Given the description of an element on the screen output the (x, y) to click on. 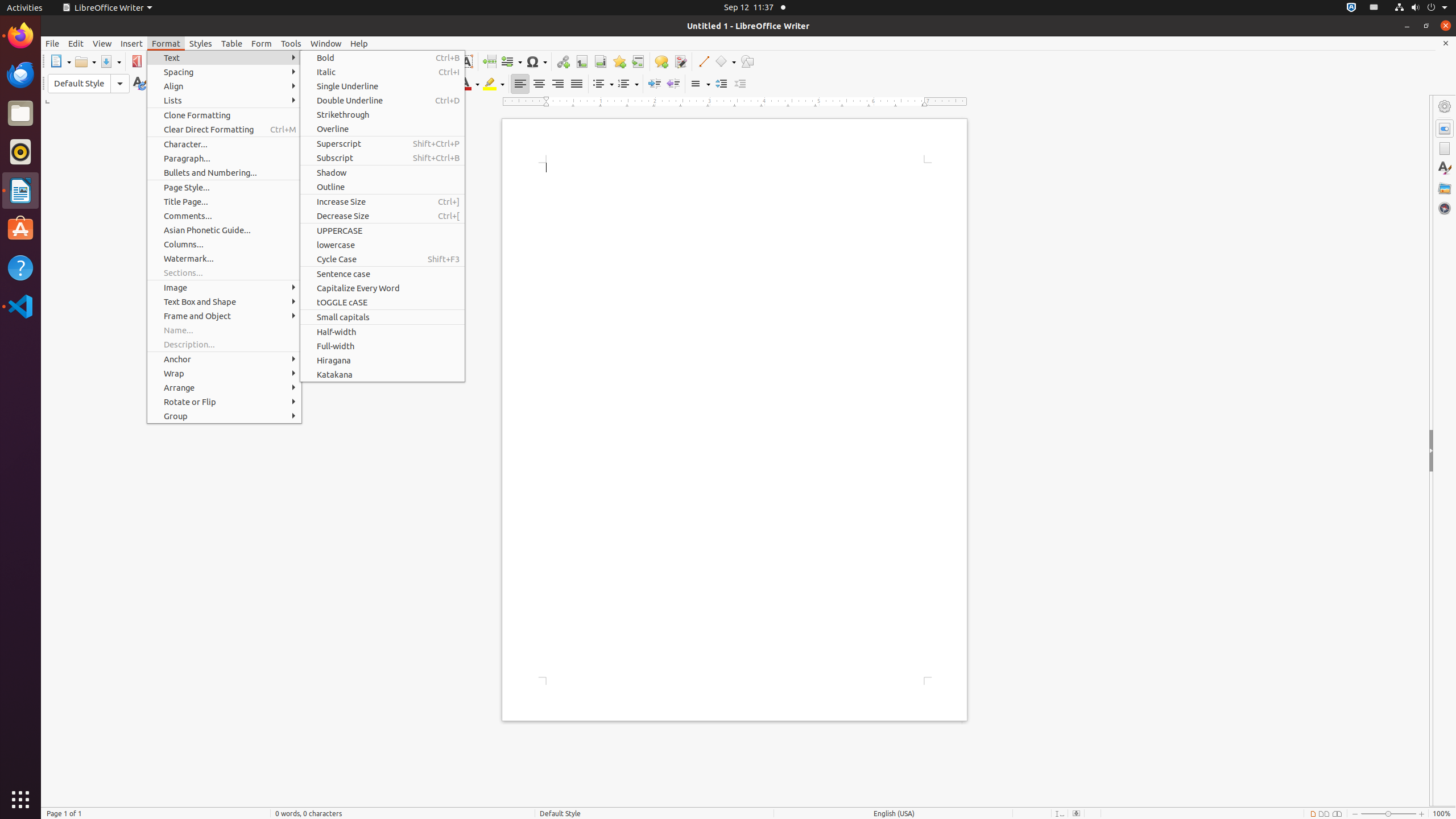
Symbol Element type: push-button (535, 61)
Character... Element type: menu-item (224, 144)
org.kde.StatusNotifierItem-14077-1 Element type: menu (1373, 7)
Help Element type: push-button (20, 267)
Align Element type: menu (224, 86)
